Given the description of an element on the screen output the (x, y) to click on. 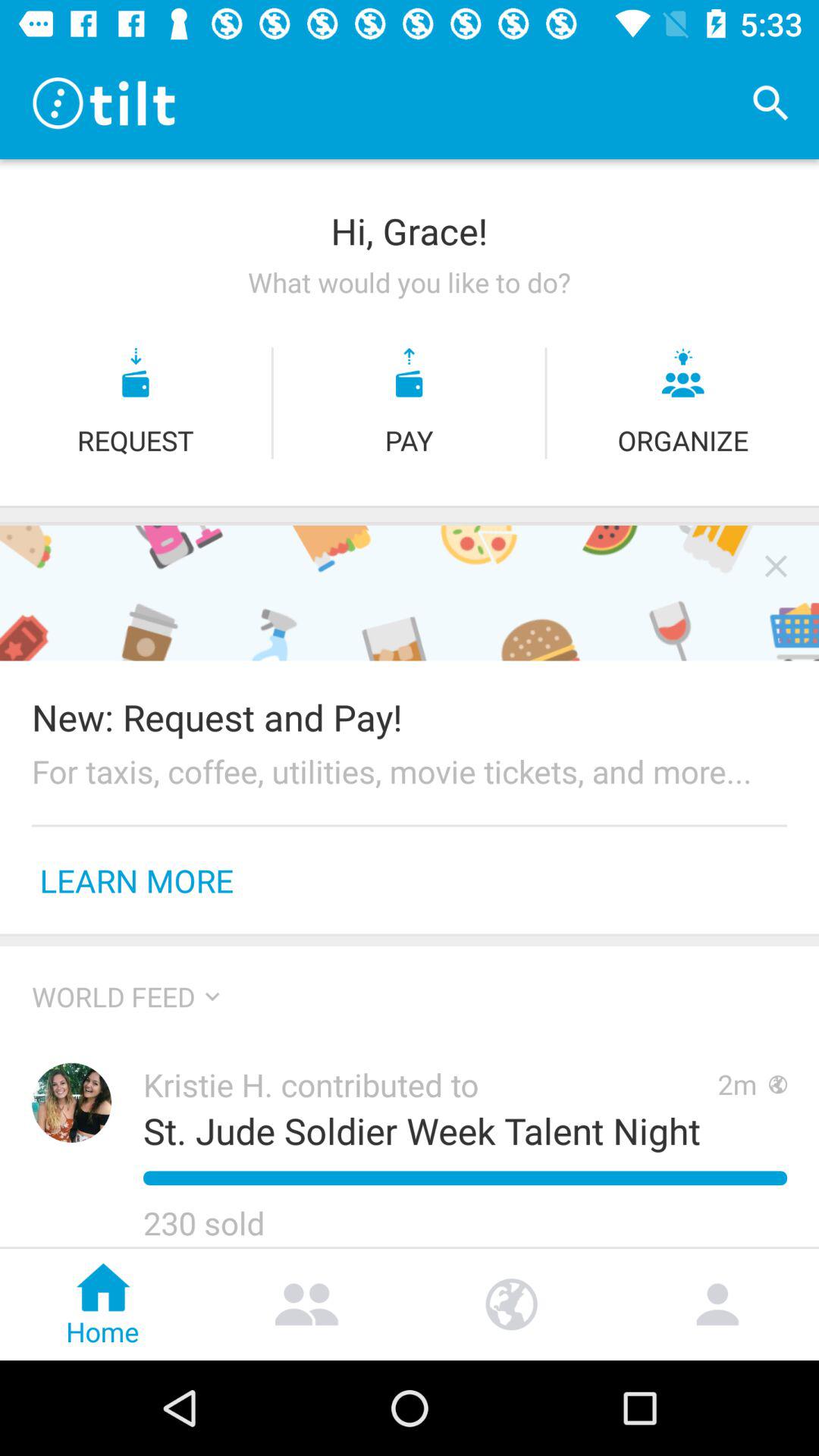
open new request and item (409, 716)
